Given the description of an element on the screen output the (x, y) to click on. 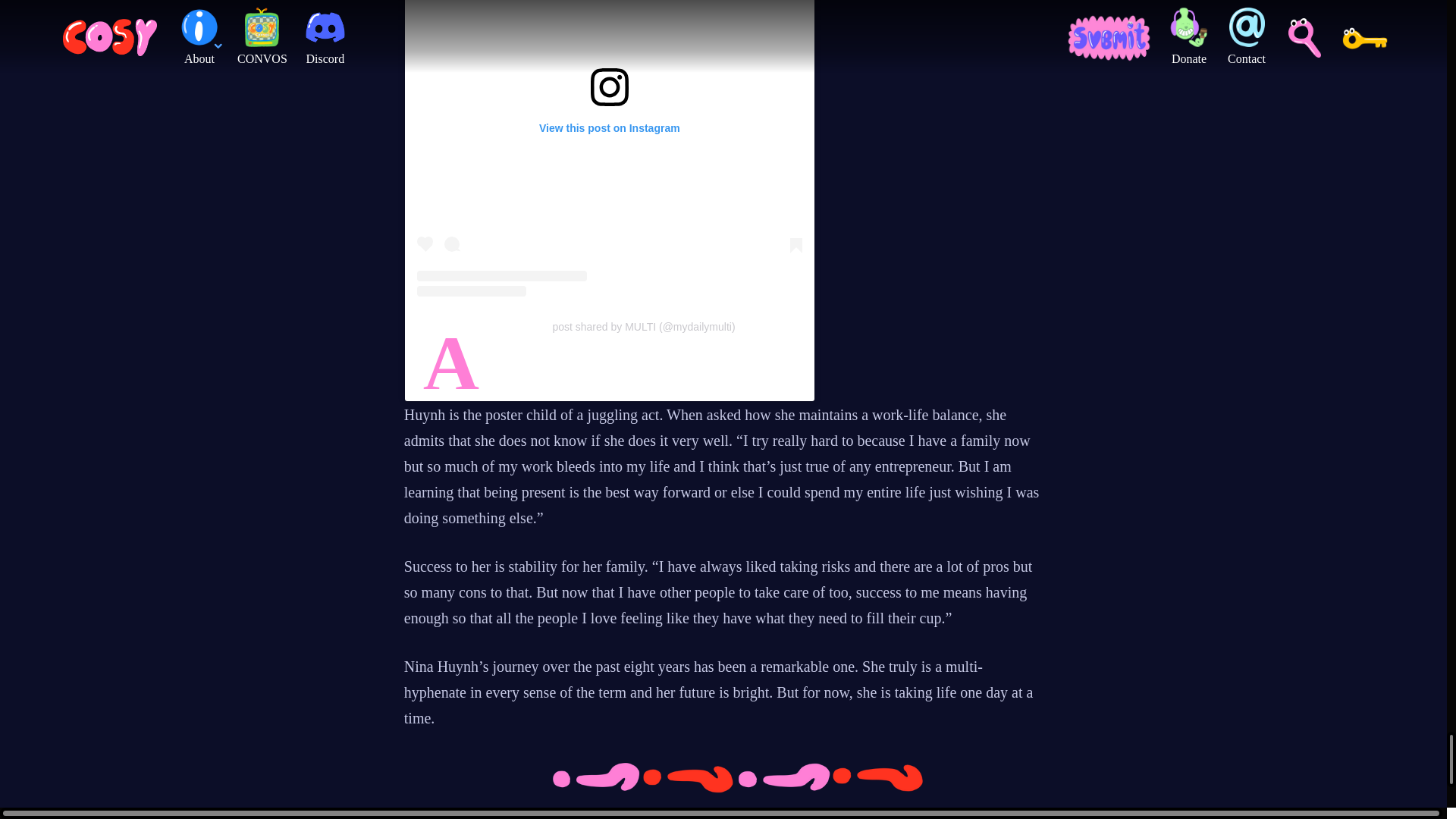
View this post on Instagram (609, 148)
